Given the description of an element on the screen output the (x, y) to click on. 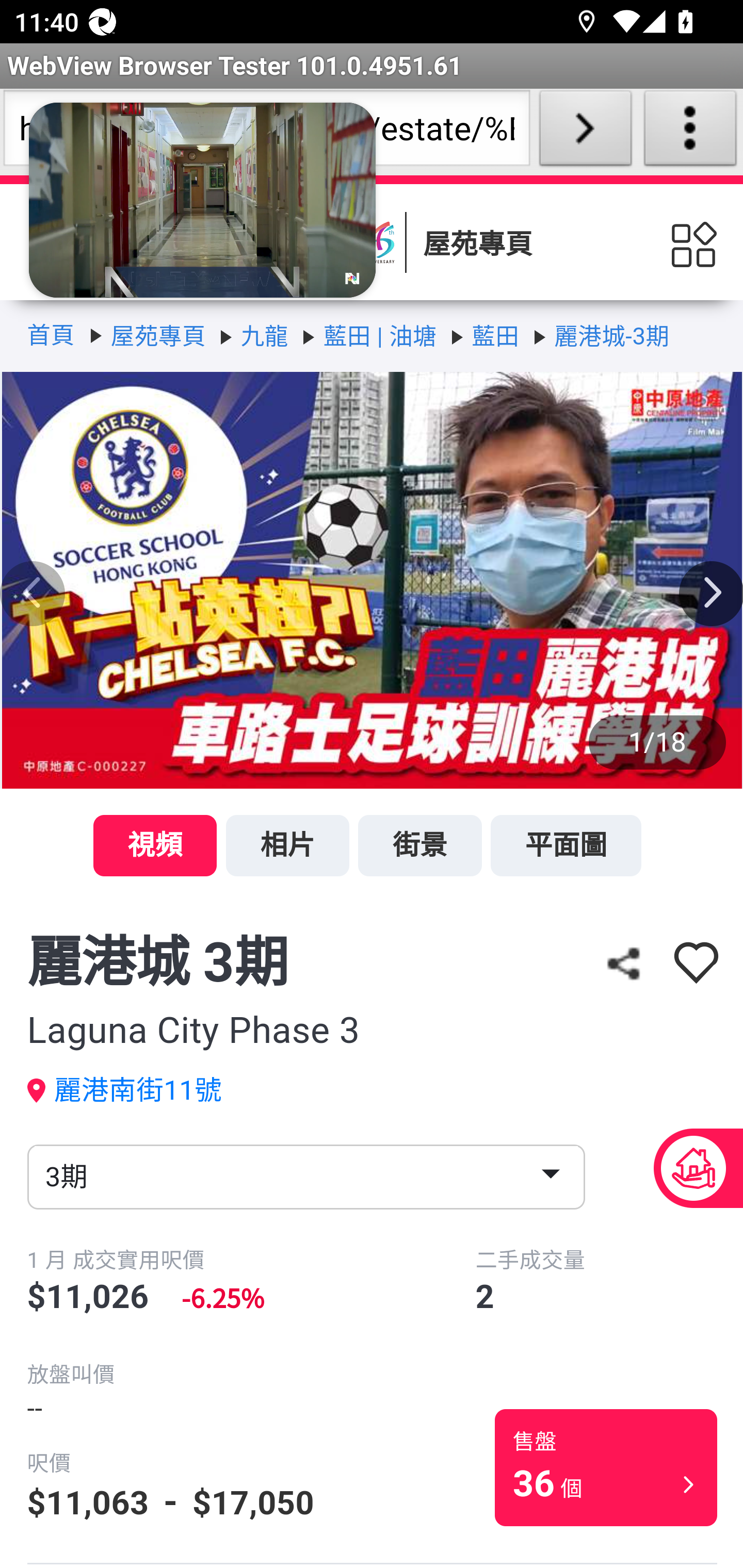
Load URL (585, 132)
About WebView (690, 132)
首頁 (50, 335)
屋苑專頁 (158, 336)
九龍 (264, 336)
藍田 | 油塘 (379, 336)
藍田 (495, 336)
麗港城 3期的影片介紹 (371, 584)
Previous (32, 593)
Next (711, 593)
視頻 (155, 845)
相片 (286, 845)
街景 (419, 845)
平面圖 (565, 845)
 (695, 963)
麗港南街11號 (138, 1090)
3期  (305, 1175)
售盤  36 個 售盤  36  個 (606, 1467)
